Given the description of an element on the screen output the (x, y) to click on. 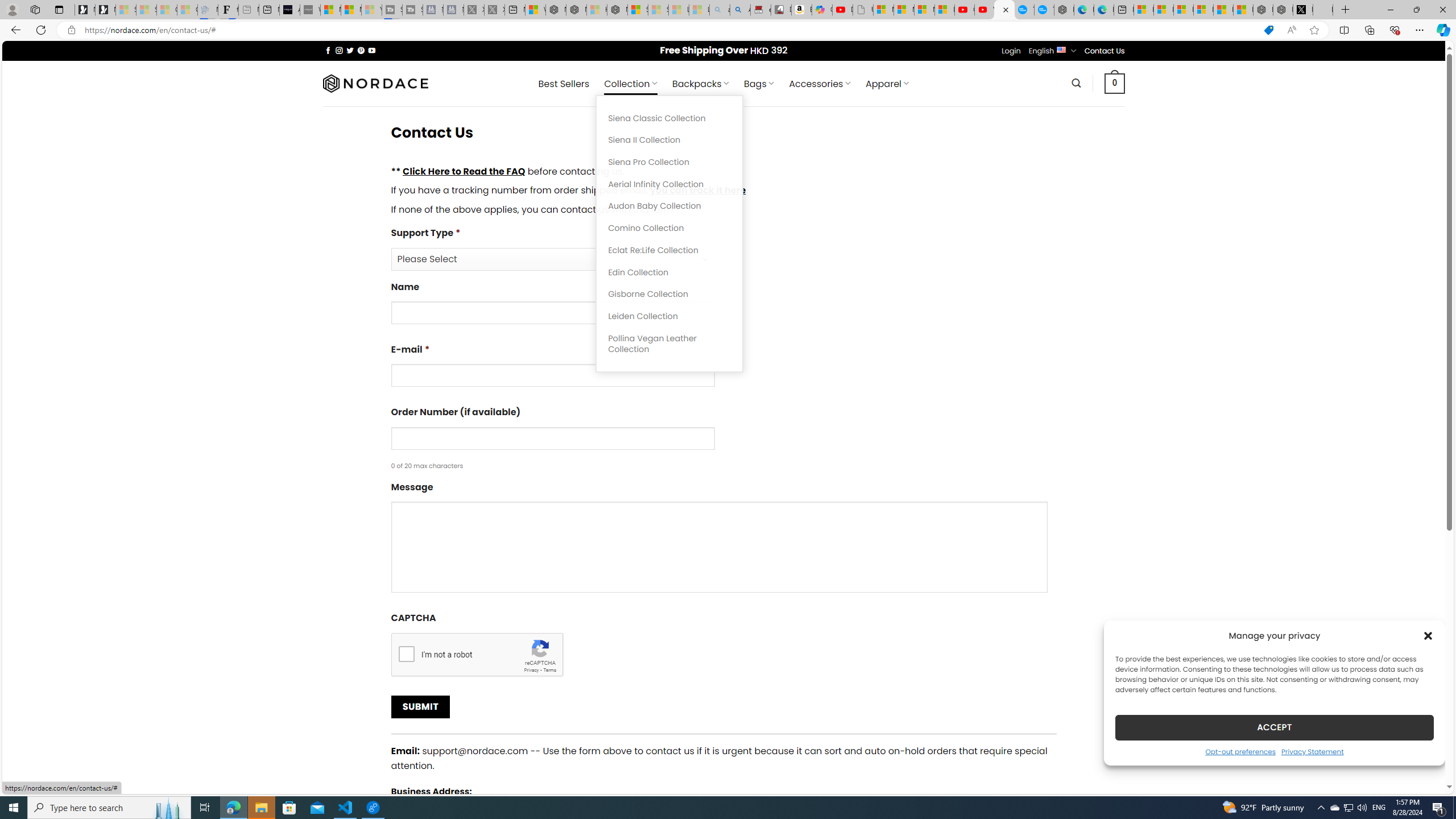
Amazon Echo Dot PNG - Search Images (740, 9)
Eclat Re:Life Collection (669, 250)
Follow on Facebook (327, 49)
X - Sleeping (494, 9)
Nordace (@NordaceOfficial) / X (1302, 9)
Aerial Infinity Collection (669, 183)
